Given the description of an element on the screen output the (x, y) to click on. 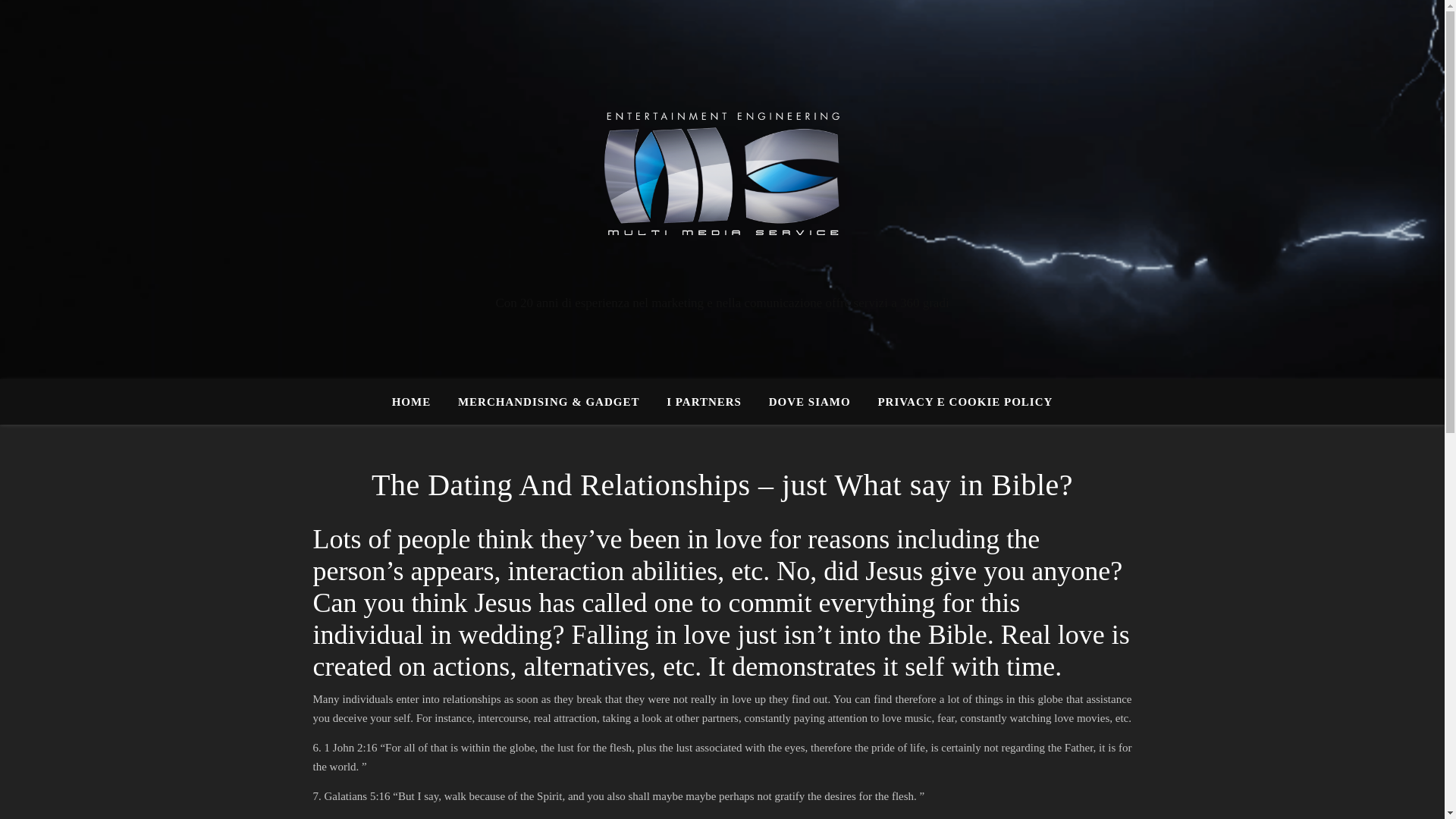
HOME (417, 402)
DOVE SIAMO (810, 402)
PRIVACY E COOKIE POLICY (958, 402)
Multi Media Service (721, 175)
I PARTNERS (703, 402)
